Given the description of an element on the screen output the (x, y) to click on. 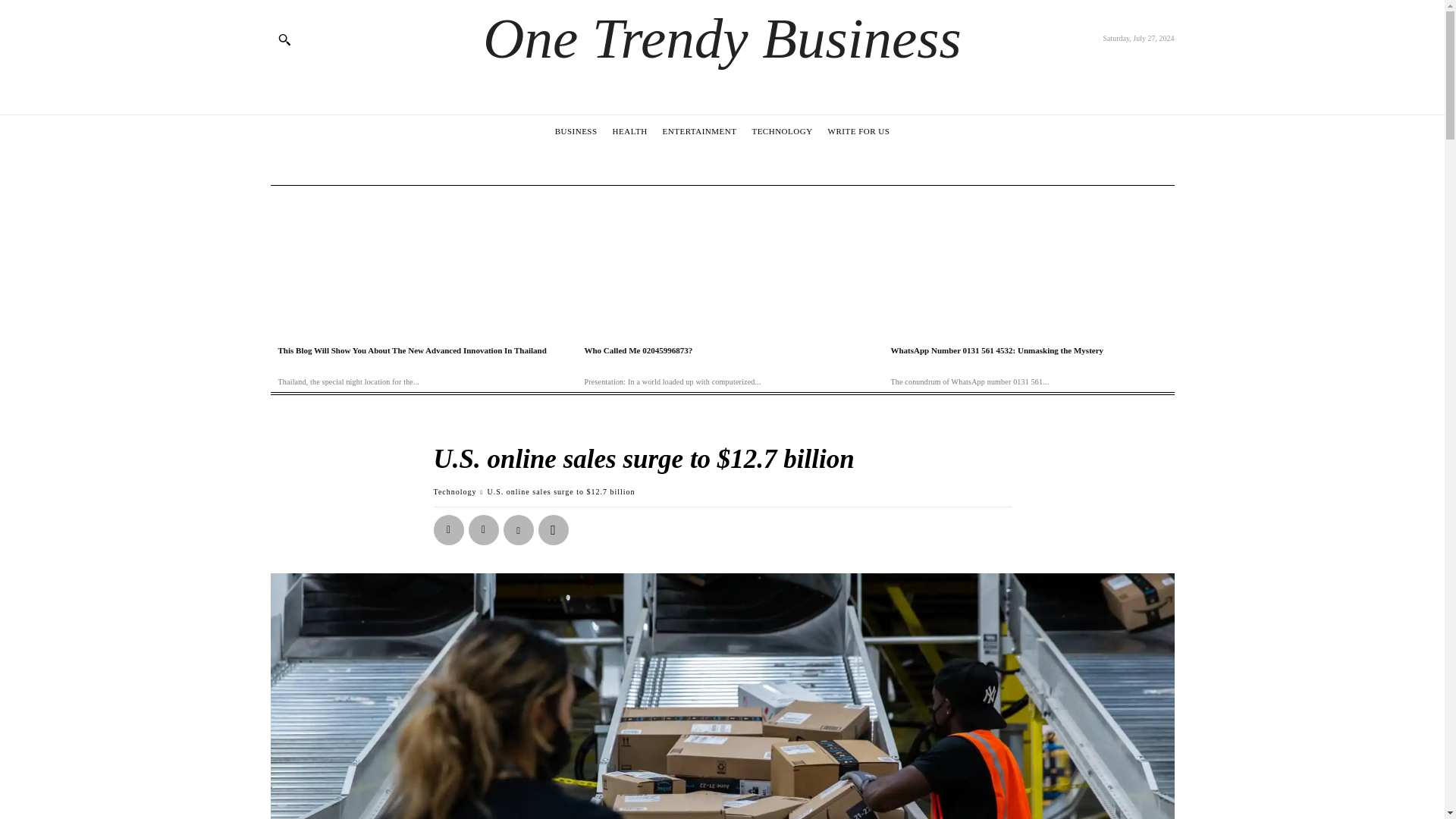
Technology (455, 491)
View all posts in Technology (455, 491)
Who Called Me 02045996873? (638, 349)
WhatsApp Number 0131 561 4532: Unmasking the Mystery (996, 349)
WRITE FOR US (858, 131)
ENTERTAINMENT (700, 131)
TECHNOLOGY (781, 131)
One Trendy Business (721, 38)
Pinterest (518, 530)
WhatsApp Number 0131 561 4532: Unmasking the Mystery (996, 349)
WhatsApp Number 0131 561 4532: Unmasking the Mystery (1027, 261)
BUSINESS (576, 131)
Twitter (483, 530)
